Given the description of an element on the screen output the (x, y) to click on. 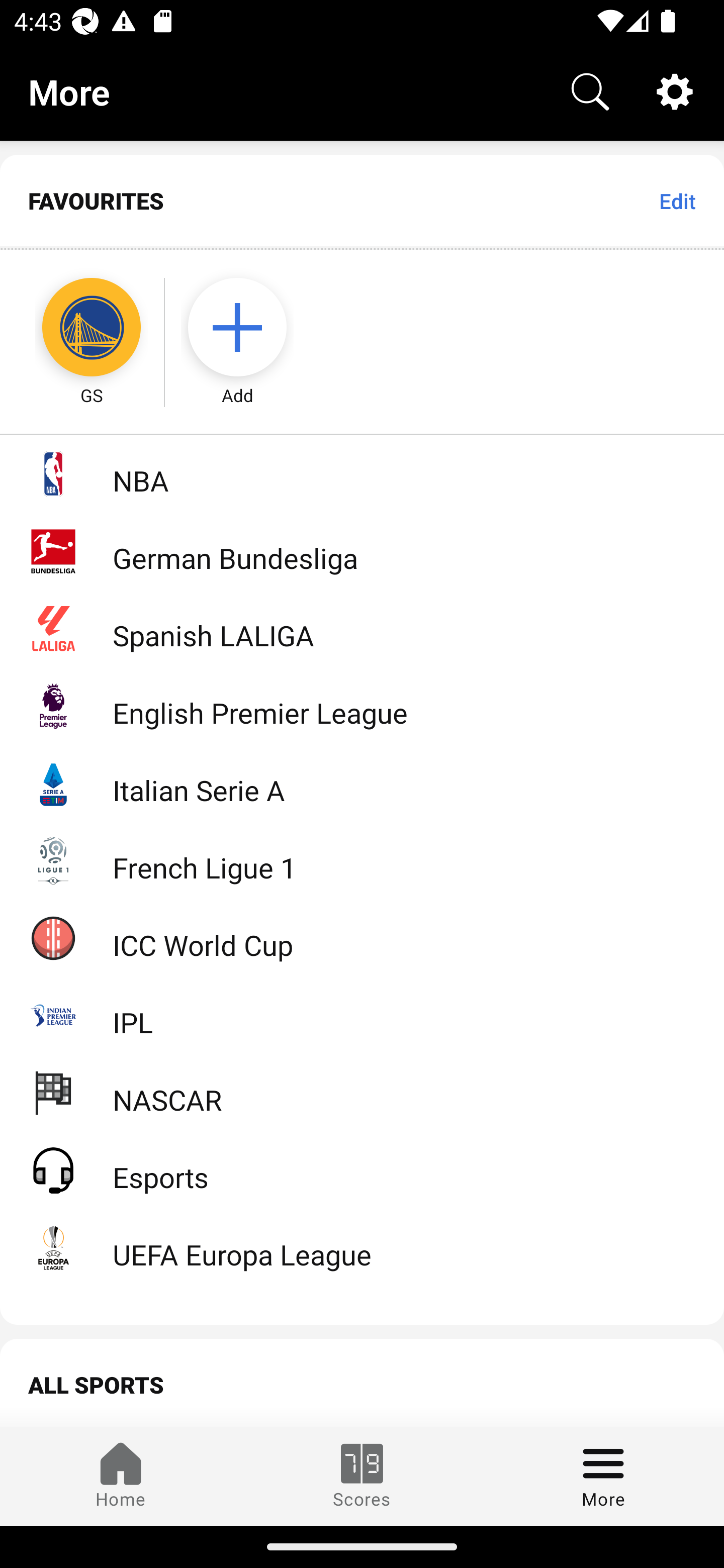
Search (590, 90)
Settings (674, 90)
Edit (676, 200)
GS Golden State Warriors (73, 328)
 Add (246, 328)
NBA (362, 473)
German Bundesliga (362, 550)
Spanish LALIGA (362, 627)
English Premier League (362, 705)
Italian Serie A (362, 782)
French Ligue 1 (362, 859)
ICC World Cup (362, 937)
IPL (362, 1014)
NASCAR (362, 1091)
Esports (362, 1169)
UEFA Europa League (362, 1246)
Home (120, 1475)
Scores (361, 1475)
